Given the description of an element on the screen output the (x, y) to click on. 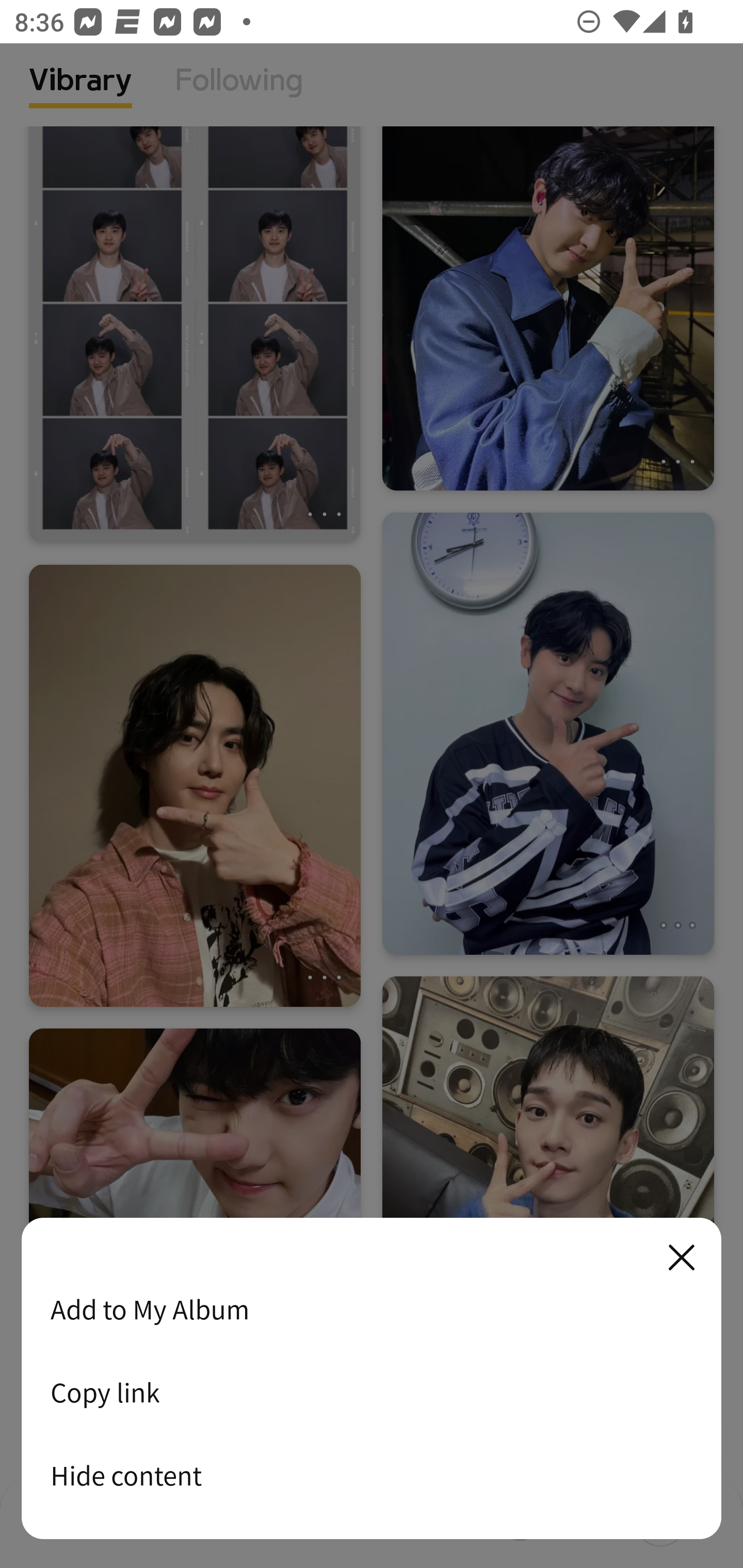
Add to My Album Copy link Hide content (371, 1378)
Add to My Album (371, 1308)
Copy link (371, 1391)
Hide content (371, 1474)
